Given the description of an element on the screen output the (x, y) to click on. 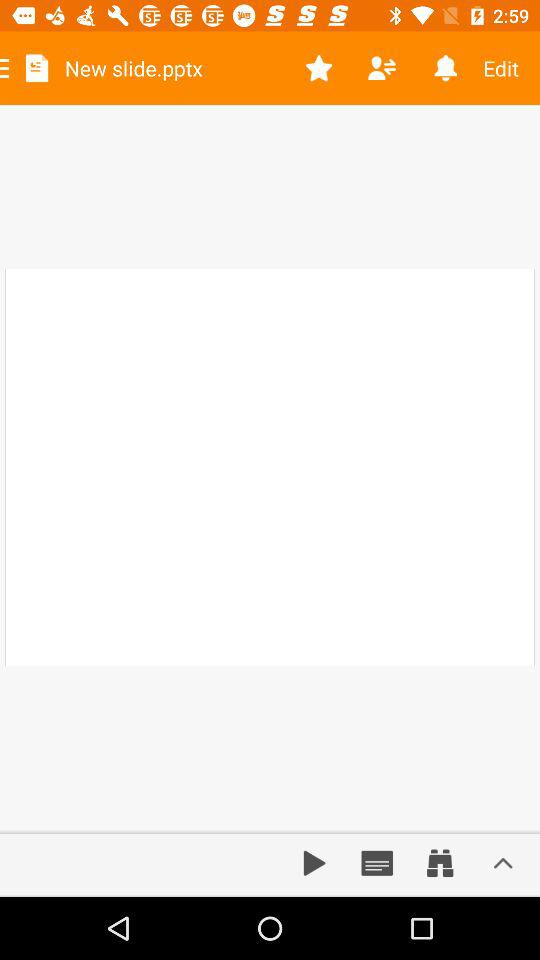
share file (381, 68)
